Given the description of an element on the screen output the (x, y) to click on. 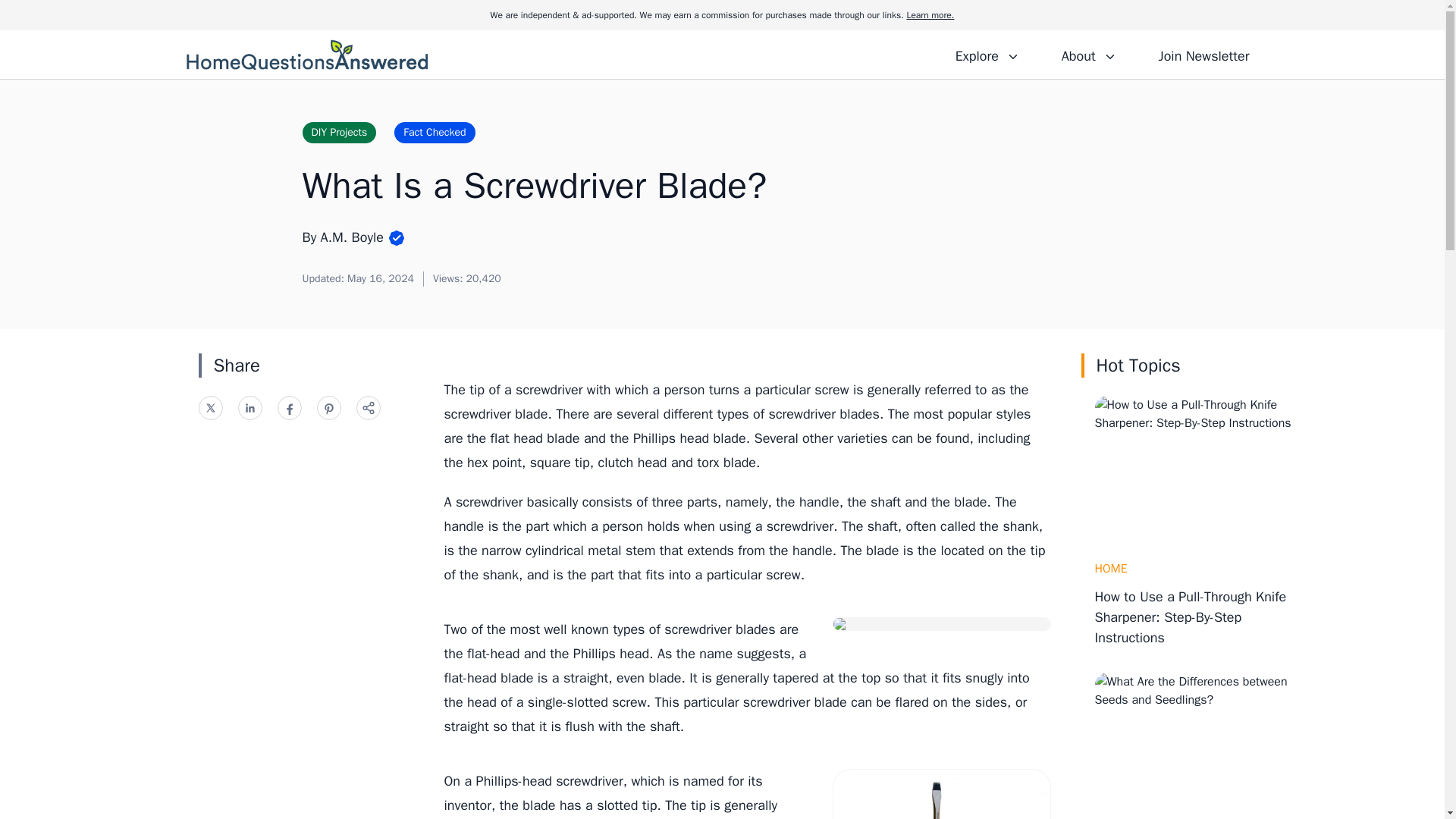
Join Newsletter (1202, 54)
Learn more. (929, 15)
About (1088, 54)
Explore (986, 54)
DIY Projects (338, 132)
Fact Checked (434, 132)
